Given the description of an element on the screen output the (x, y) to click on. 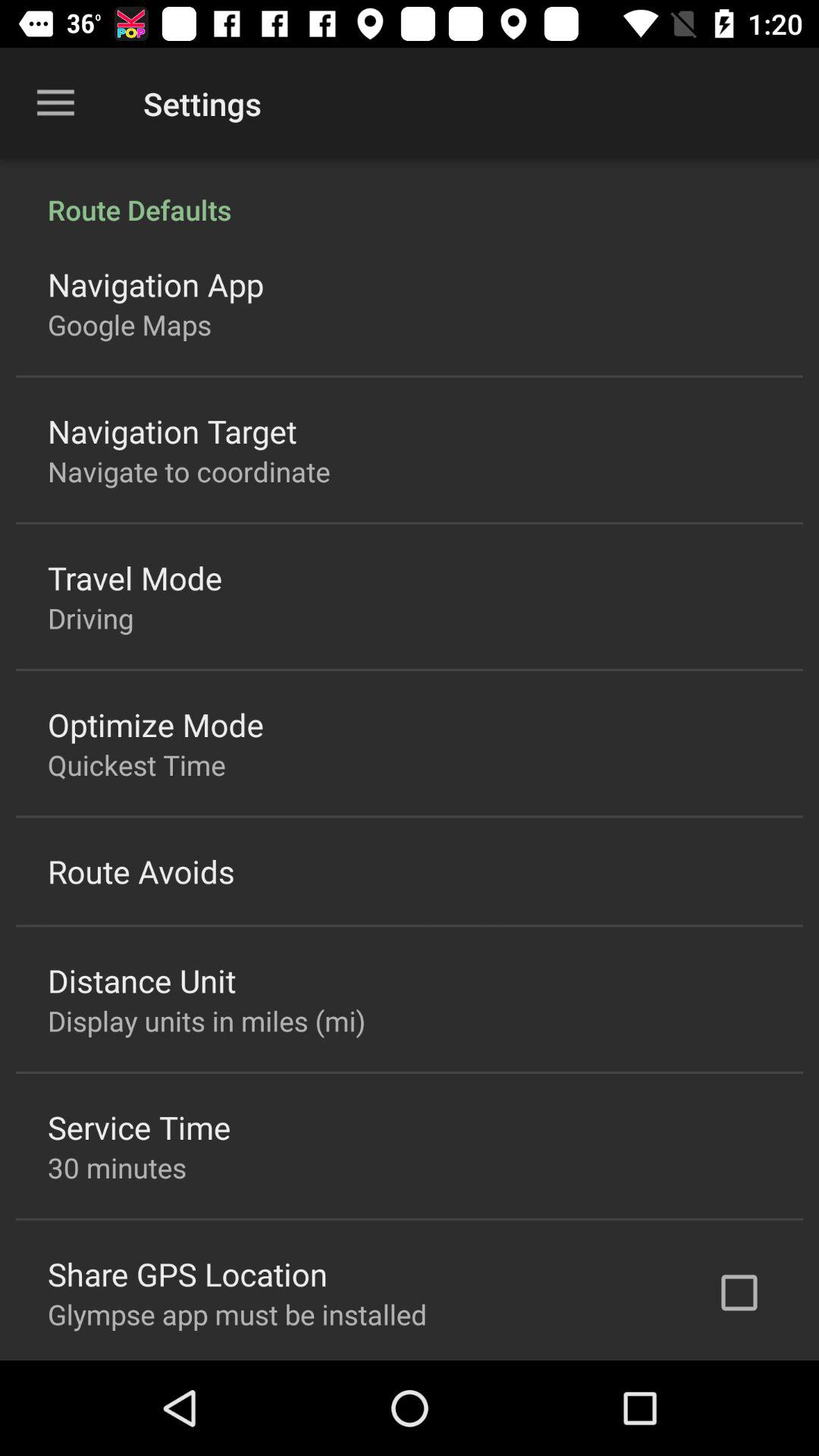
launch 30 minutes item (116, 1167)
